Given the description of an element on the screen output the (x, y) to click on. 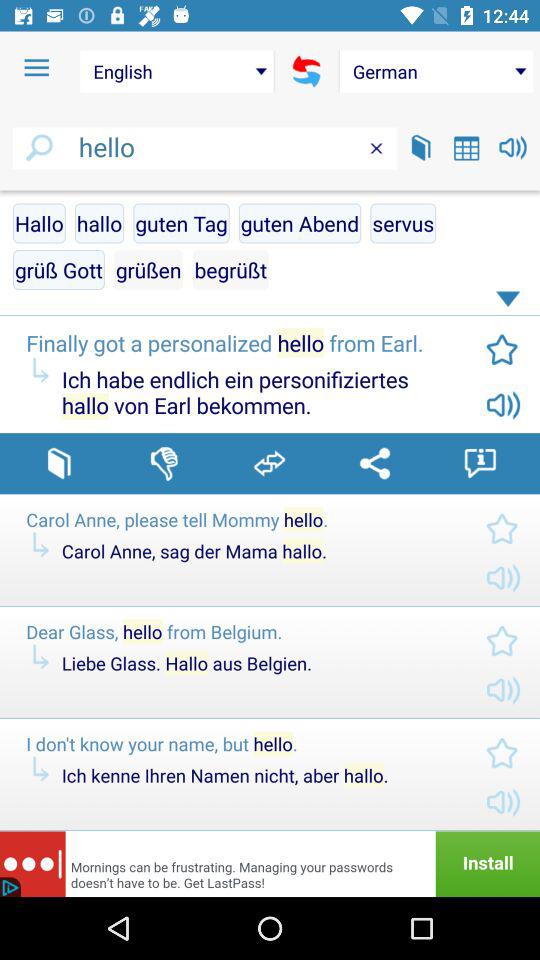
press the item to the right of hallo icon (181, 223)
